Given the description of an element on the screen output the (x, y) to click on. 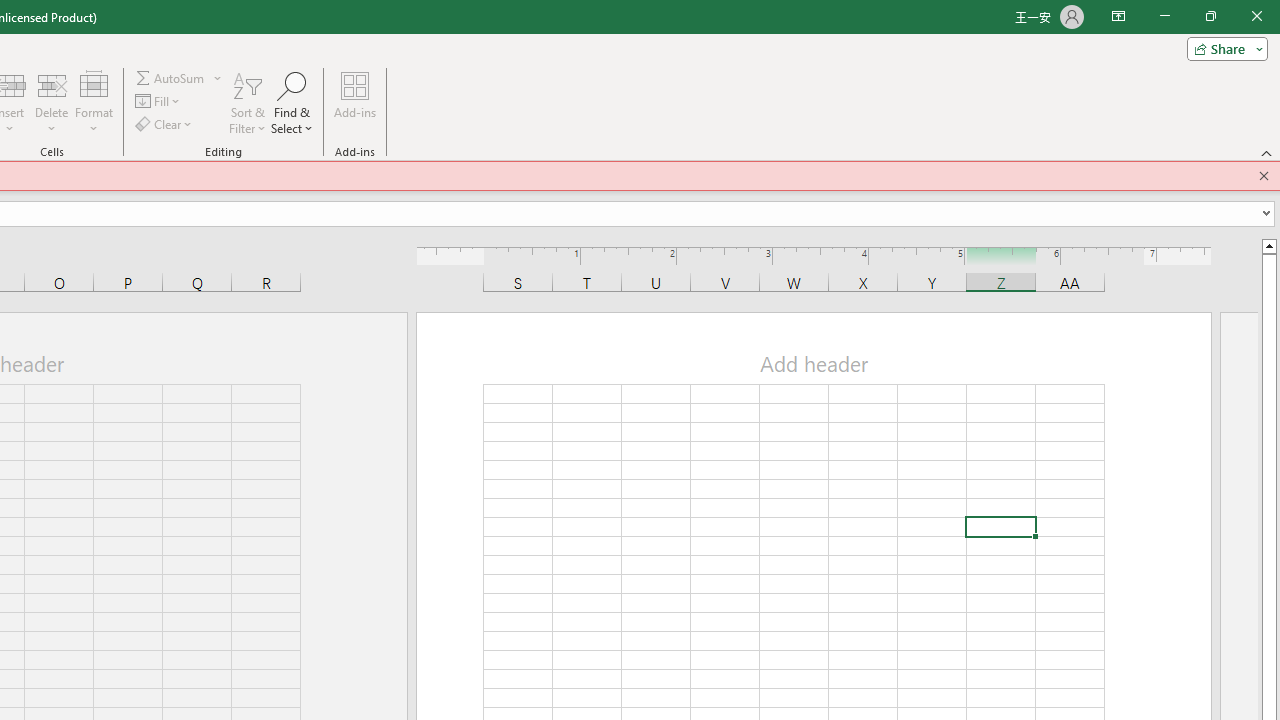
Delete (51, 102)
Close this message (1263, 176)
Delete Cells... (51, 84)
